Given the description of an element on the screen output the (x, y) to click on. 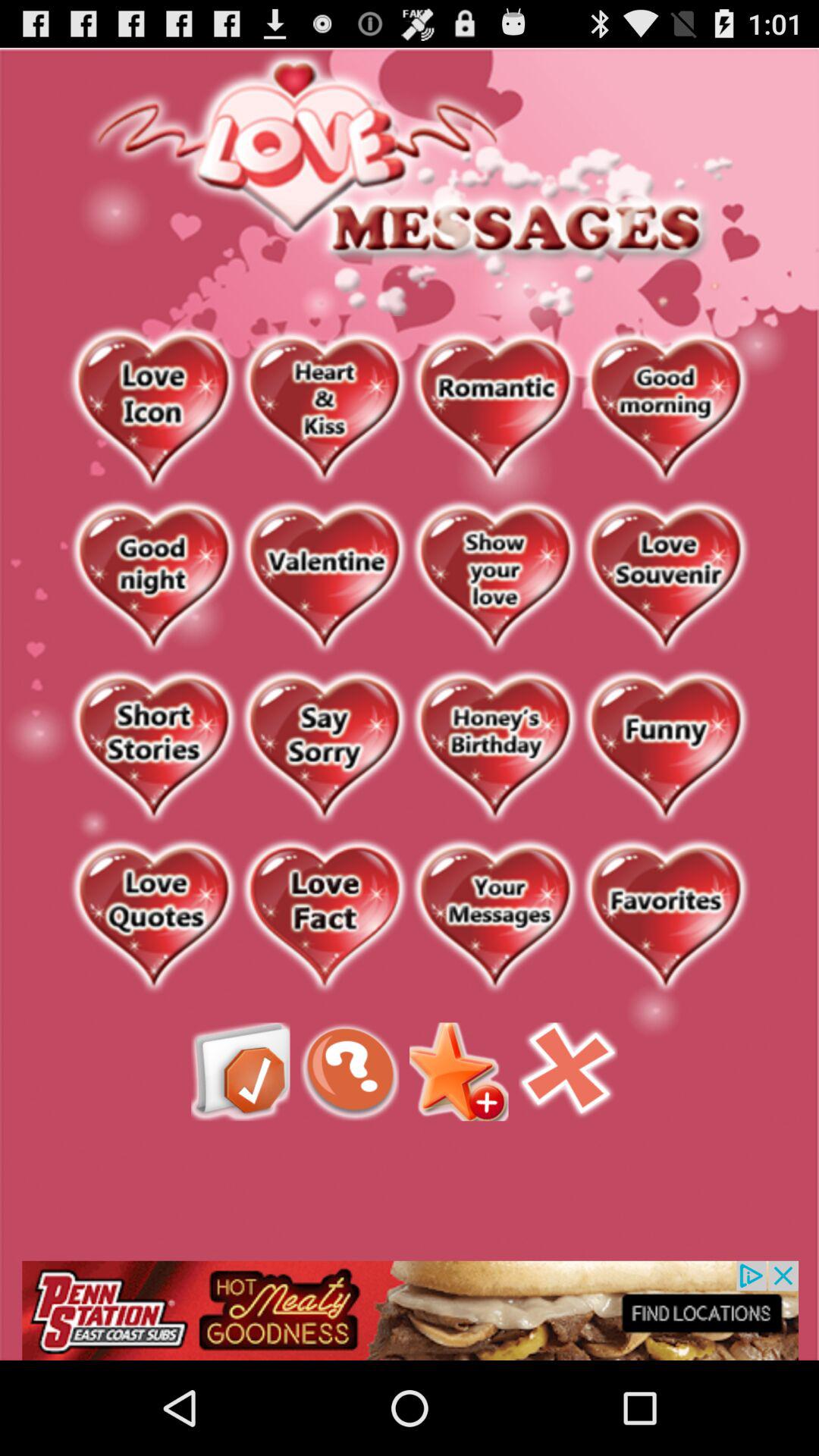
select category (494, 408)
